Given the description of an element on the screen output the (x, y) to click on. 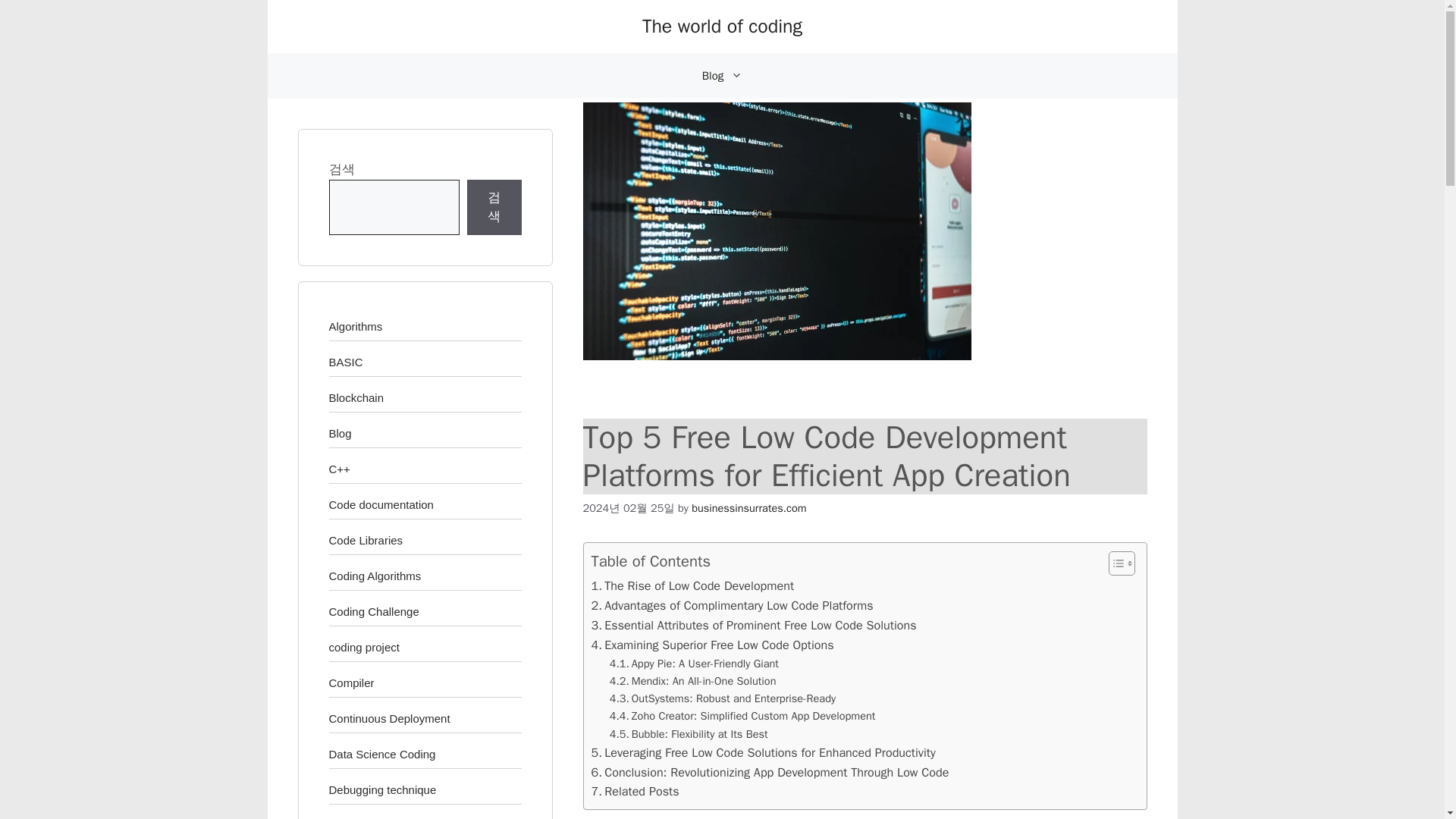
Code documentation (381, 503)
businessinsurrates.com (748, 507)
Essential Attributes of Prominent Free Low Code Solutions (754, 625)
Blog (722, 75)
Blockchain (356, 397)
Appy Pie: A User-Friendly Giant (694, 663)
Mendix: An All-in-One Solution (693, 681)
Examining Superior Free Low Code Options (712, 645)
Leveraging Free Low Code Solutions for Enhanced Productivity (763, 752)
Appy Pie: A User-Friendly Giant (694, 663)
